Given the description of an element on the screen output the (x, y) to click on. 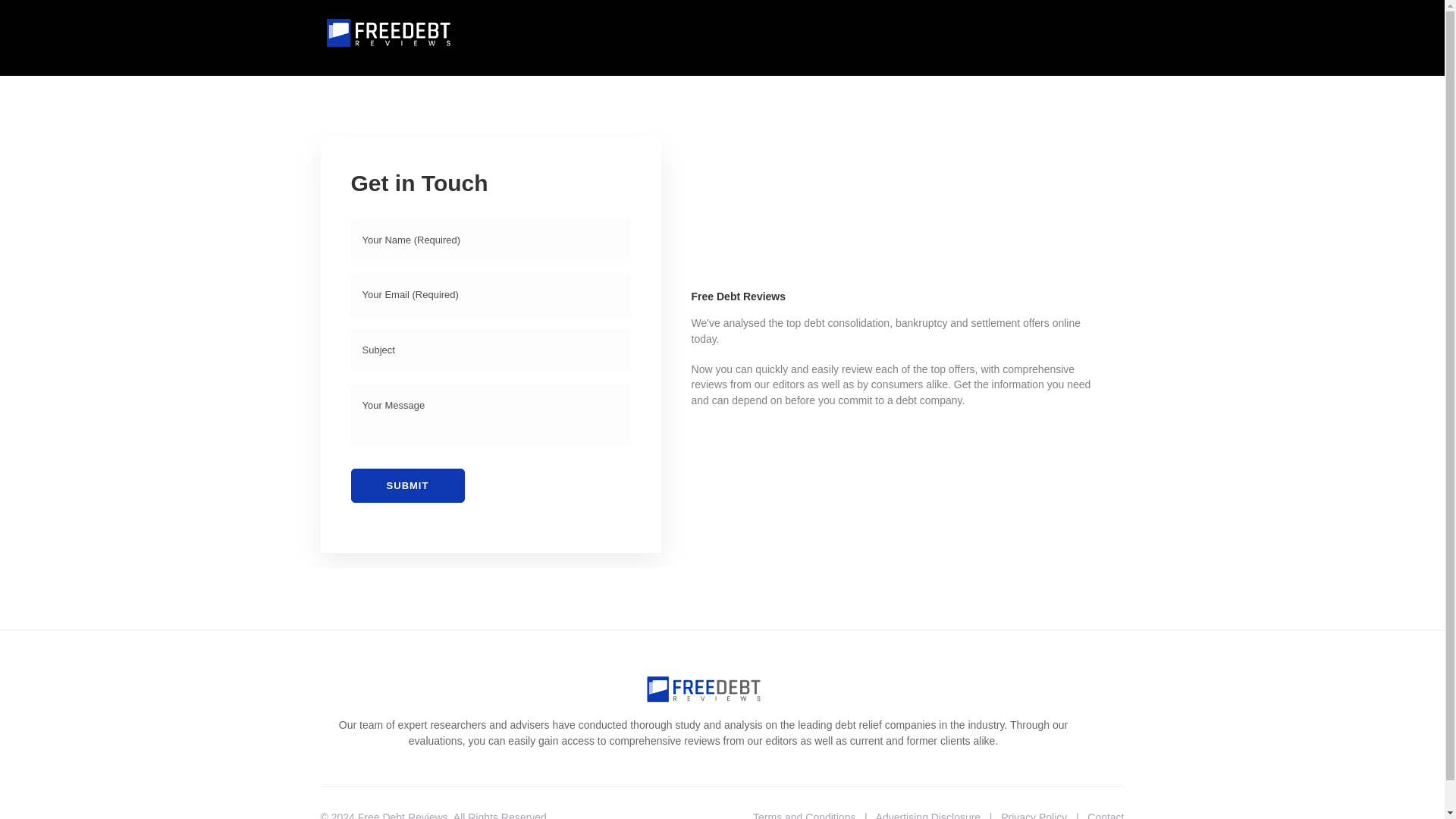
Free Debt Reviews (403, 815)
Advertising Disclosure (928, 815)
Submit (407, 485)
Submit (407, 485)
Terms and Conditions (804, 815)
Logo-02 (388, 33)
Privacy Policy (1034, 815)
Contact (1105, 815)
